Given the description of an element on the screen output the (x, y) to click on. 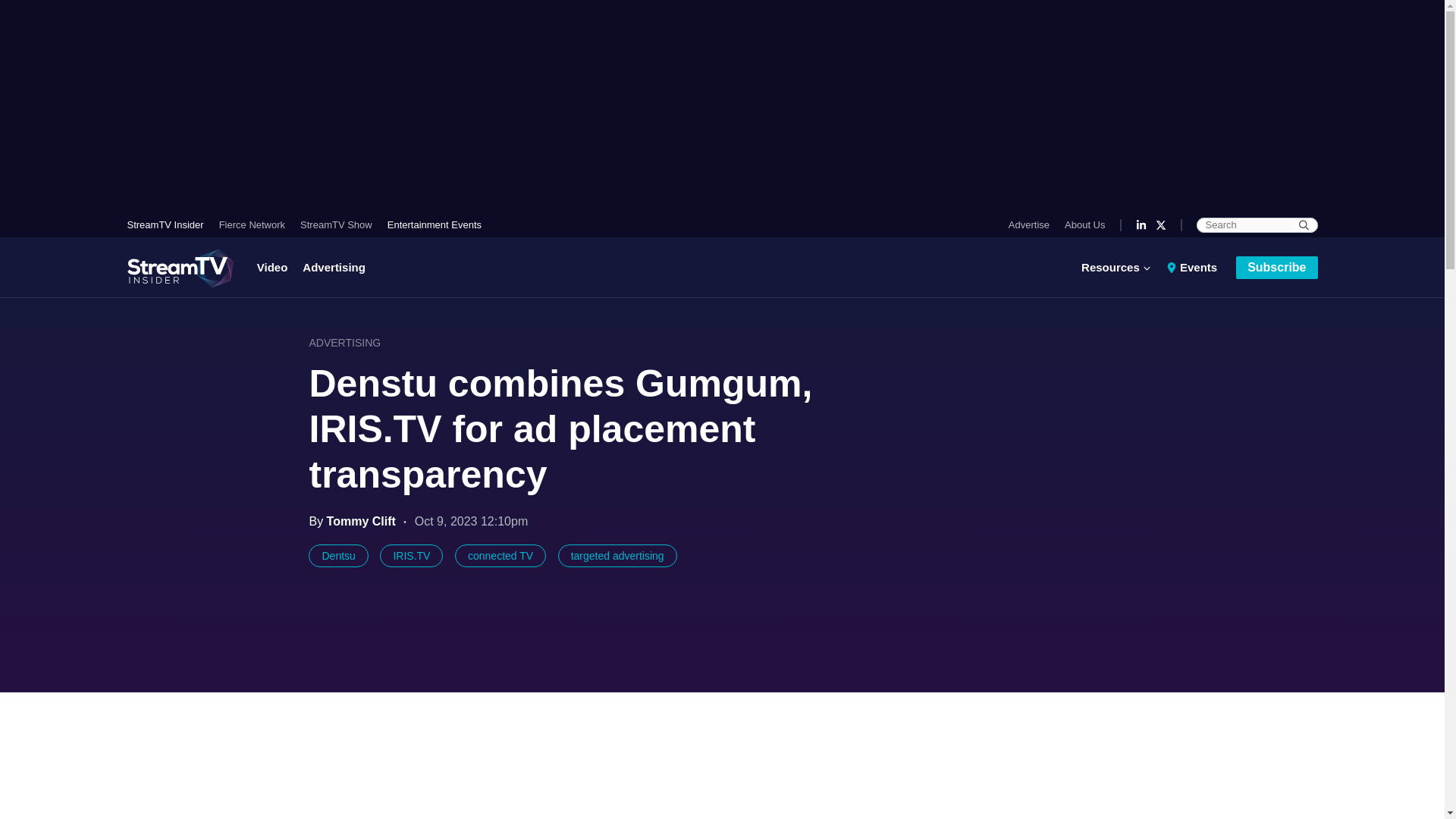
StreamTV Insider (169, 225)
Dentsu (338, 555)
Subscribe (1276, 267)
StreamTV Insider (169, 225)
Advertising (333, 266)
Resources (1119, 266)
Subscribe (1276, 267)
Tommy Clift (362, 521)
Video (276, 266)
Video (276, 266)
Advertising (333, 266)
About Us (1081, 225)
Entertainment Events (430, 225)
Entertainment Events (430, 225)
Advertise (1033, 225)
